Given the description of an element on the screen output the (x, y) to click on. 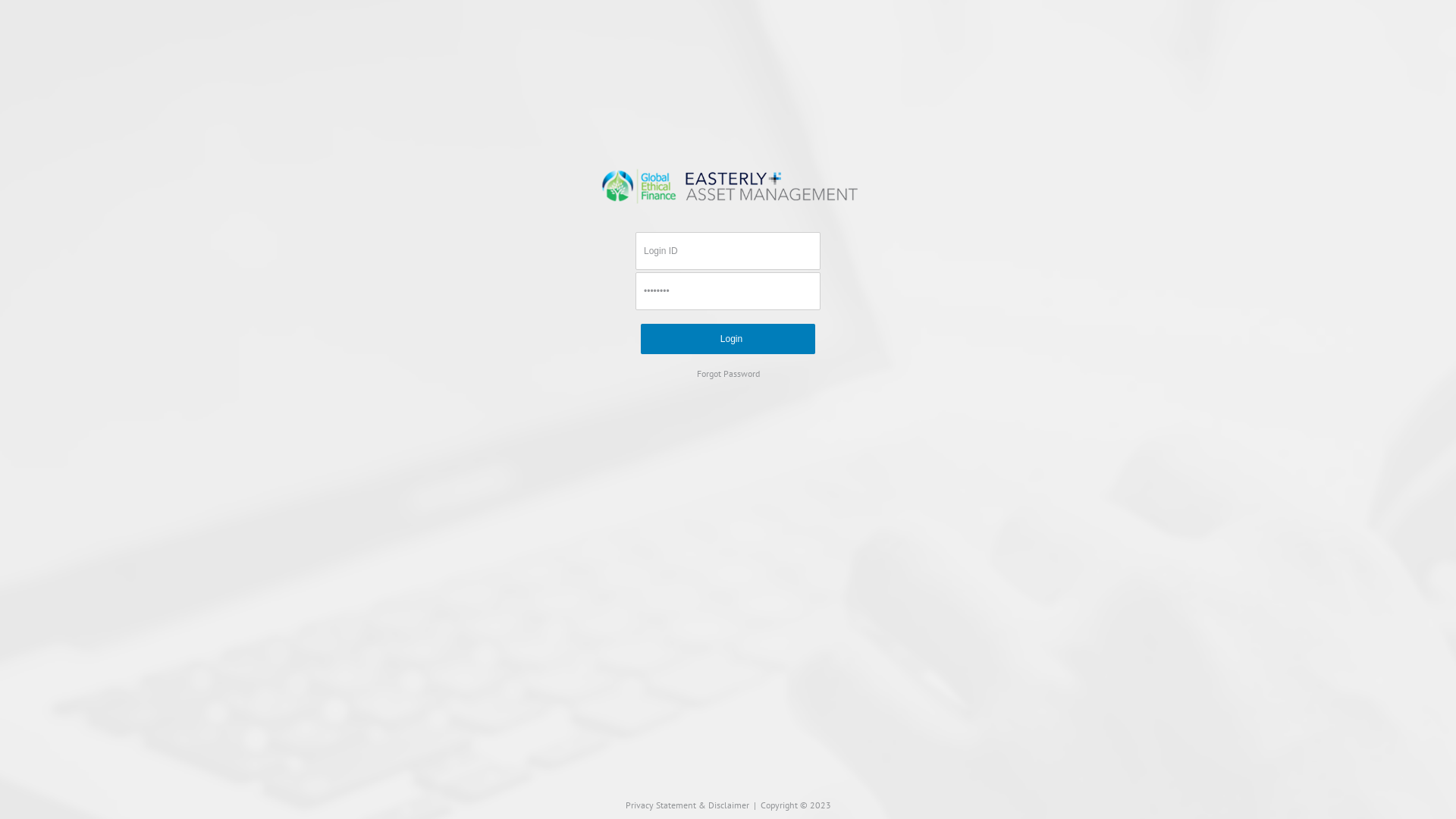
Visit the Easterly Asset management Web Site Element type: hover (727, 182)
Show OK Message Element type: text (47, 222)
Show Error Message Element type: text (148, 222)
Forgot Password Element type: text (727, 373)
Privacy Statement & Disclaimer Element type: text (686, 804)
Login Element type: text (727, 338)
